Given the description of an element on the screen output the (x, y) to click on. 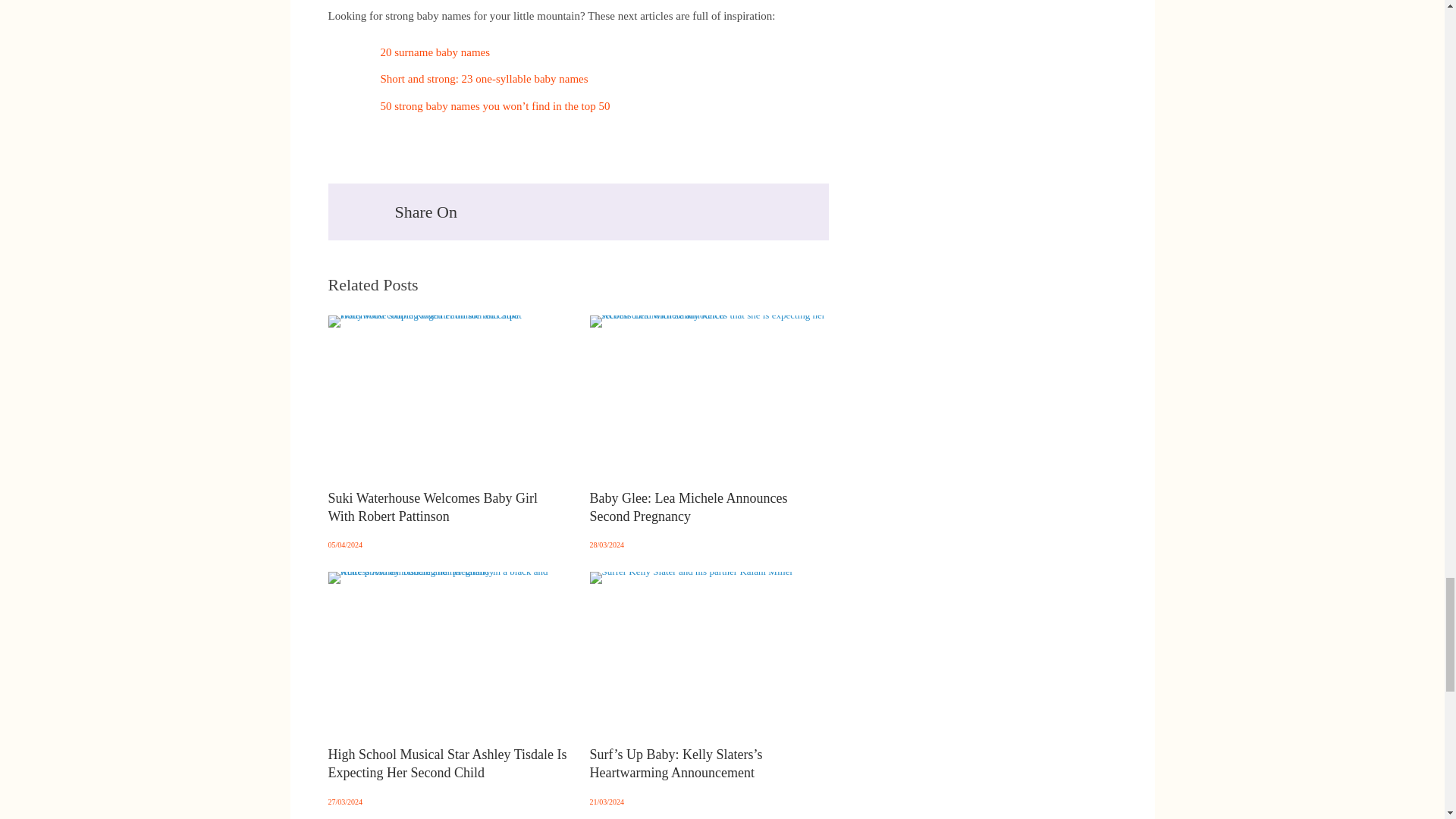
Baby Glee: Lea Michele Announces Second Pregnancy (708, 431)
Short and strong: 23 one-syllable baby names (484, 78)
20 surname baby names (435, 51)
Suki Waterhouse Welcomes Baby Girl With Robert Pattinson (446, 431)
